Given the description of an element on the screen output the (x, y) to click on. 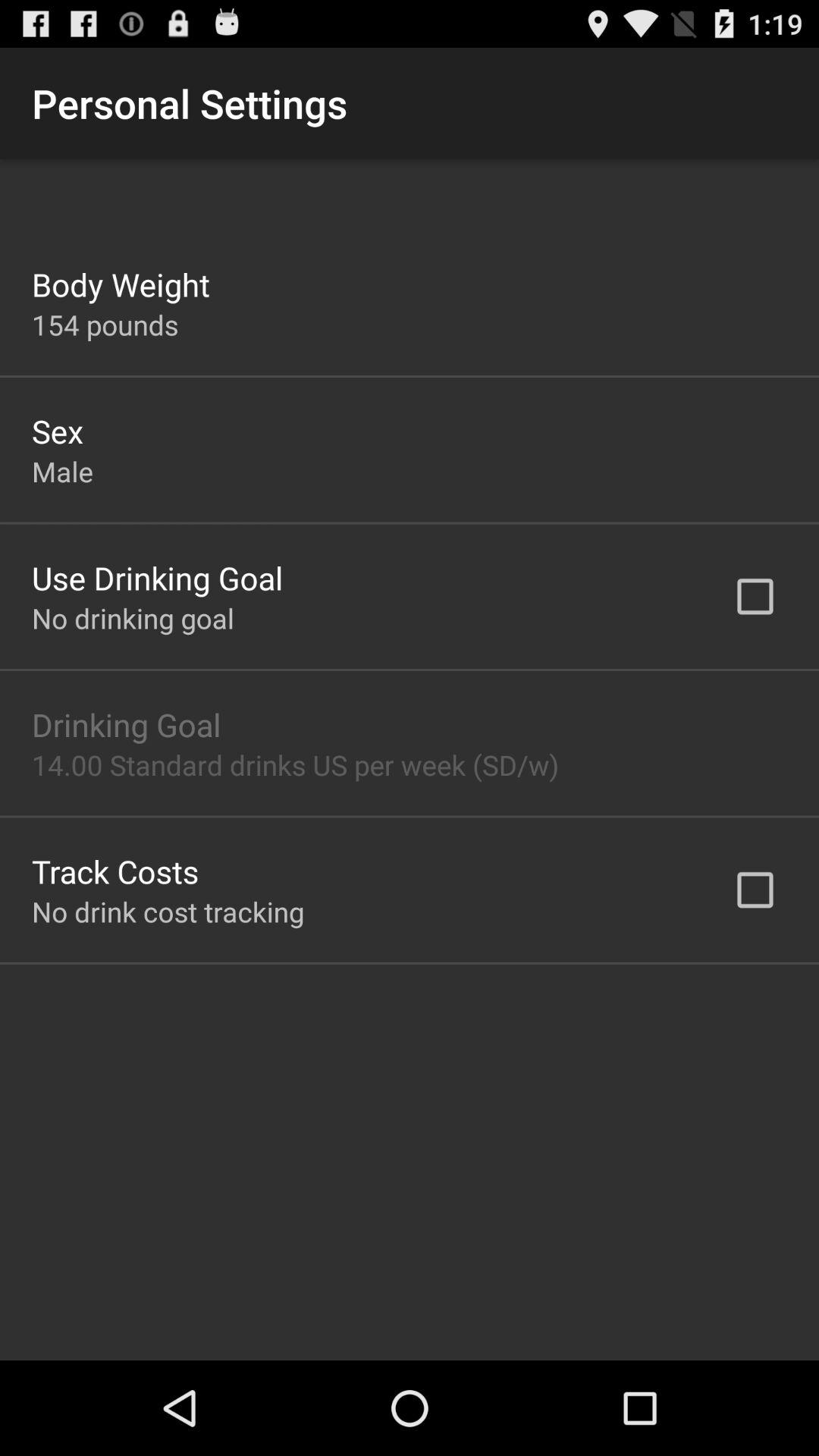
select app above 154 pounds item (120, 283)
